Given the description of an element on the screen output the (x, y) to click on. 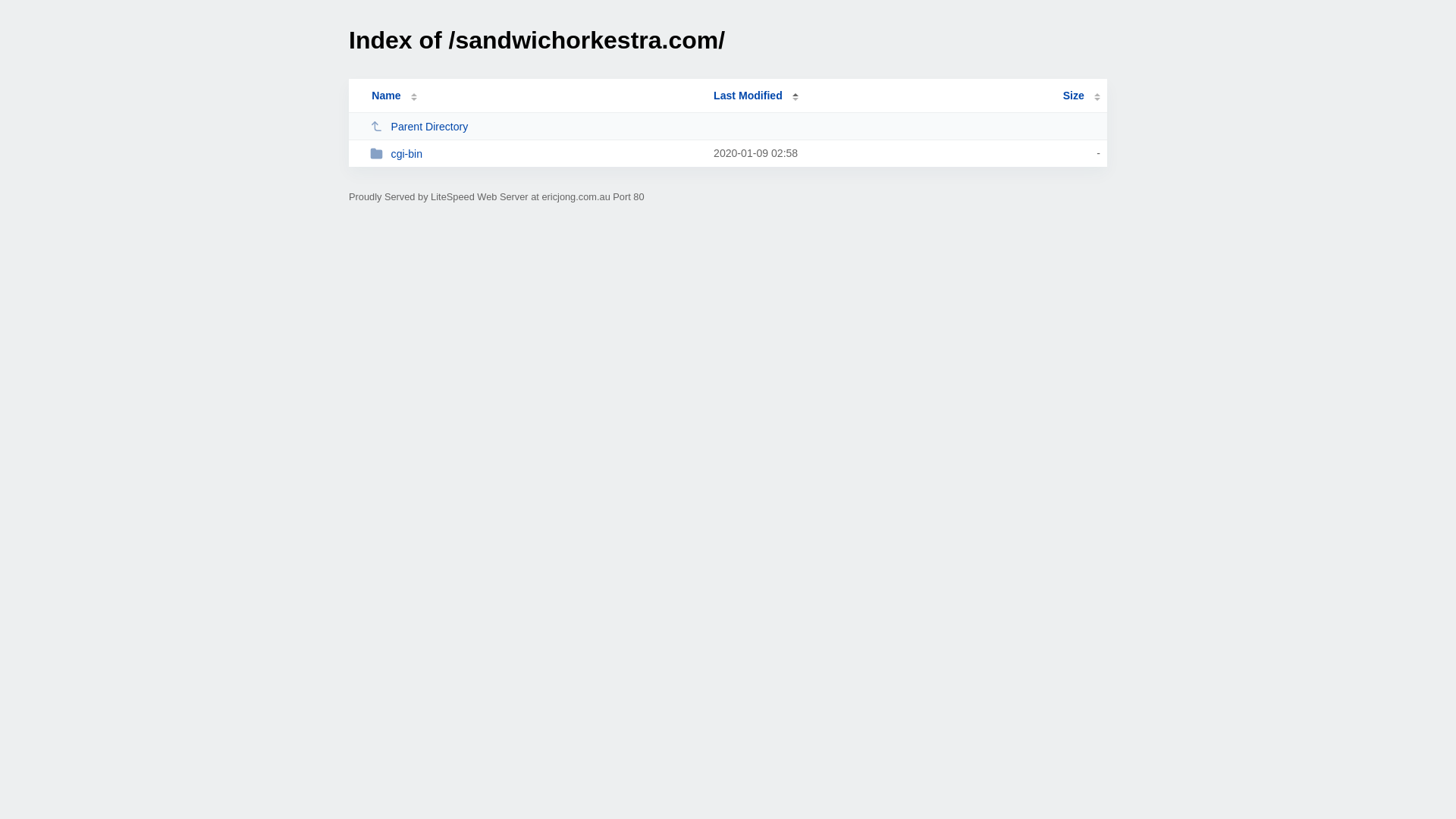
Name Element type: text (385, 95)
Parent Directory Element type: text (534, 125)
cgi-bin Element type: text (534, 153)
Last Modified Element type: text (755, 95)
Size Element type: text (1081, 95)
